Given the description of an element on the screen output the (x, y) to click on. 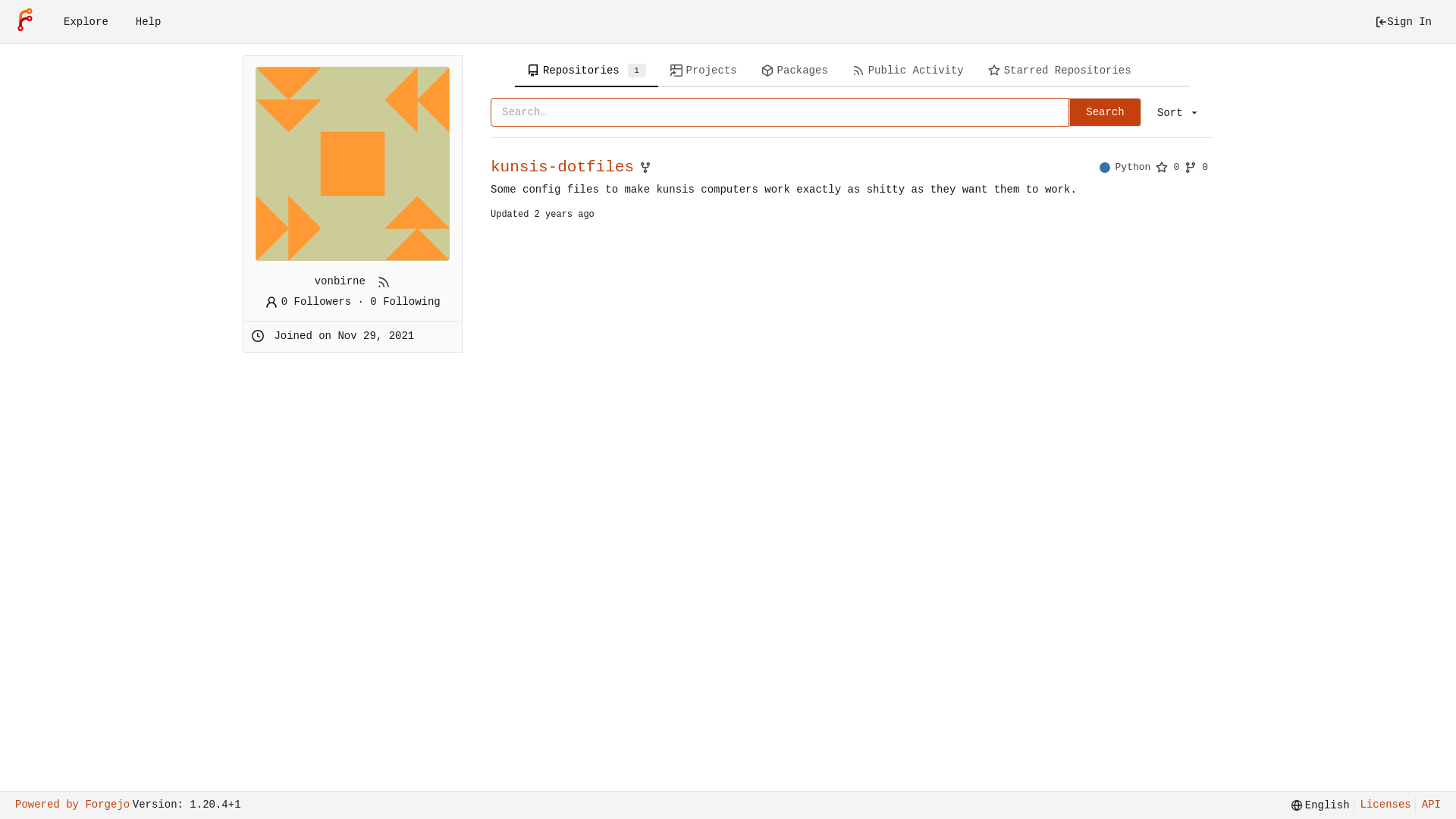
Search Element type: text (1104, 111)
Python Element type: text (1127, 166)
Projects Element type: text (703, 71)
0 Following Element type: text (404, 301)
Explore Element type: text (85, 21)
API Element type: text (1427, 804)
0 Element type: text (1196, 166)
0 Followers Element type: text (307, 301)
Repositories
1 Element type: text (586, 71)
Help Element type: text (148, 21)
Public Activity Element type: text (907, 71)
kunsis-dotfiles Element type: text (561, 166)
vonbirne Element type: hover (352, 163)
Starred Repositories Element type: text (1059, 71)
Packages Element type: text (794, 71)
Licenses Element type: text (1382, 804)
0 Element type: text (1167, 166)
Sign In Element type: text (1403, 21)
Powered by Forgejo Element type: text (72, 804)
